Given the description of an element on the screen output the (x, y) to click on. 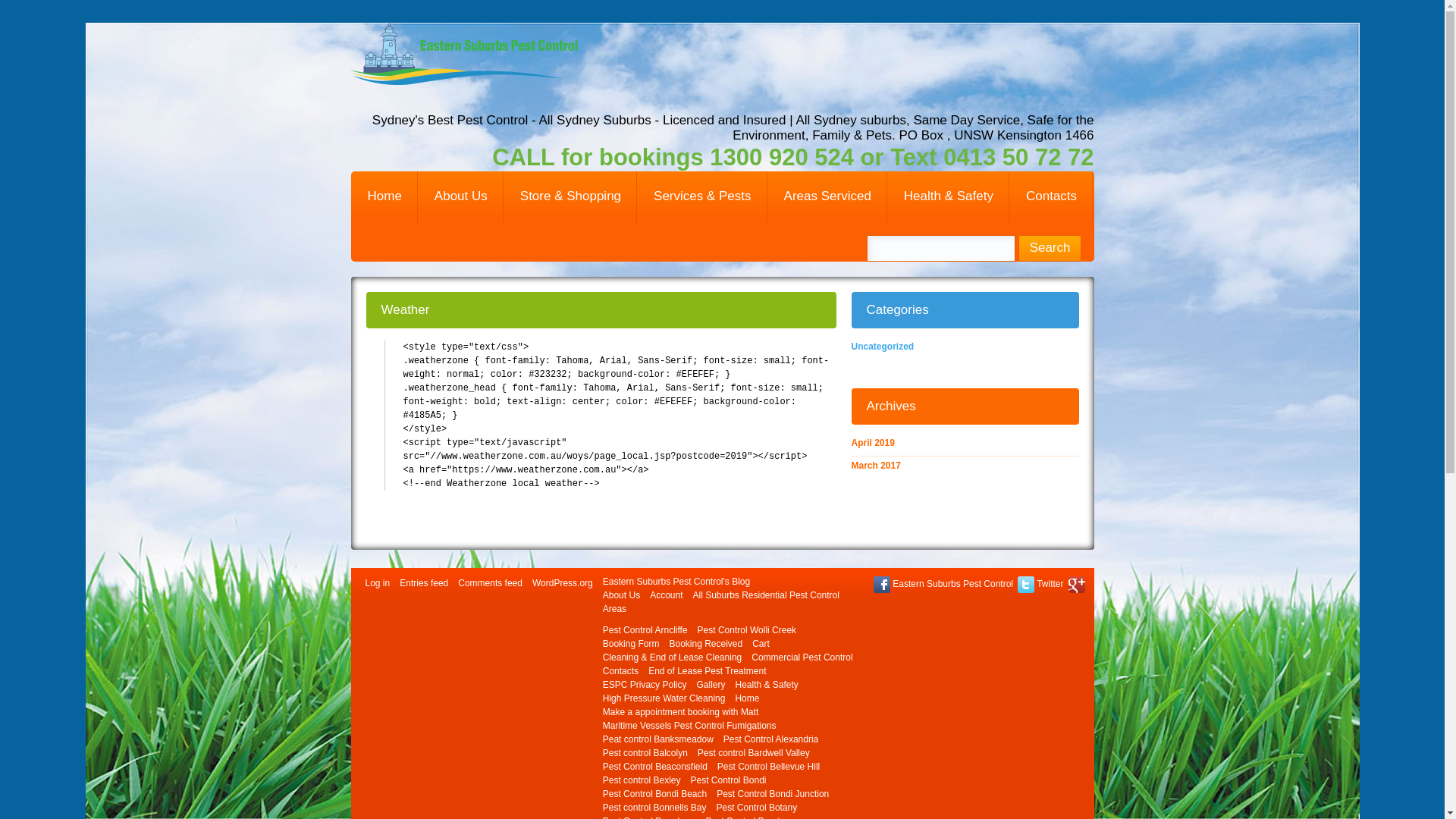
Account Element type: text (665, 594)
About Us Element type: text (621, 594)
Log in Element type: text (377, 582)
ESPC Privacy Policy Element type: text (644, 684)
WordPress.org Element type: text (562, 582)
Contacts Element type: text (1050, 196)
End of Lease Pest Treatment Element type: text (706, 670)
Pest control Balcolyn Element type: text (644, 752)
Gallery Element type: text (710, 684)
Booking Received Element type: text (705, 643)
Pest control Bonnells Bay Element type: text (654, 807)
Home Element type: text (383, 196)
Maritime Vessels Pest Control Fumigations Element type: text (689, 725)
Health & Safety Element type: text (948, 196)
April 2019 Element type: text (872, 442)
Entries feed Element type: text (423, 582)
Home Element type: text (746, 698)
Contacts Element type: text (620, 670)
Pest Control Bondi Beach Element type: text (654, 793)
Comments feed Element type: text (490, 582)
High Pressure Water Cleaning Element type: text (663, 698)
All Suburbs Residential Pest Control Element type: text (765, 594)
March 2017 Element type: text (875, 465)
Make a appointment booking with Matt Element type: text (680, 711)
Pest Control Arncliffe Element type: text (644, 629)
Pest control Bexley Element type: text (641, 780)
Pest Control Alexandria Element type: text (770, 739)
Twitter Element type: text (1040, 583)
About Us Element type: text (460, 196)
Pest control Bardwell Valley Element type: text (753, 752)
Peat control Banksmeadow Element type: text (657, 739)
Pest Control Beaconsfield Element type: text (654, 766)
Eastern Suburbs Pest Control's Blog Element type: text (675, 581)
Uncategorized Element type: text (881, 346)
Cleaning & End of Lease Cleaning Element type: text (671, 657)
Areas Element type: text (614, 608)
Pest Control Botany Element type: text (756, 807)
Pest Control Bondi Junction Element type: text (772, 793)
Search Element type: text (1049, 248)
Store & Shopping Element type: text (570, 196)
Health & Safety Element type: text (765, 684)
Eastern Suburbs Pest Control Element type: text (943, 583)
Areas Serviced Element type: text (827, 196)
Pest Control Wolli Creek Element type: text (747, 629)
Pest Control Bellevue Hill Element type: text (768, 766)
Booking Form Element type: text (630, 643)
Cart Element type: text (760, 643)
Pest Control Bondi Element type: text (727, 780)
Services & Pests Element type: text (702, 196)
Commercial Pest Control Element type: text (801, 657)
